Given the description of an element on the screen output the (x, y) to click on. 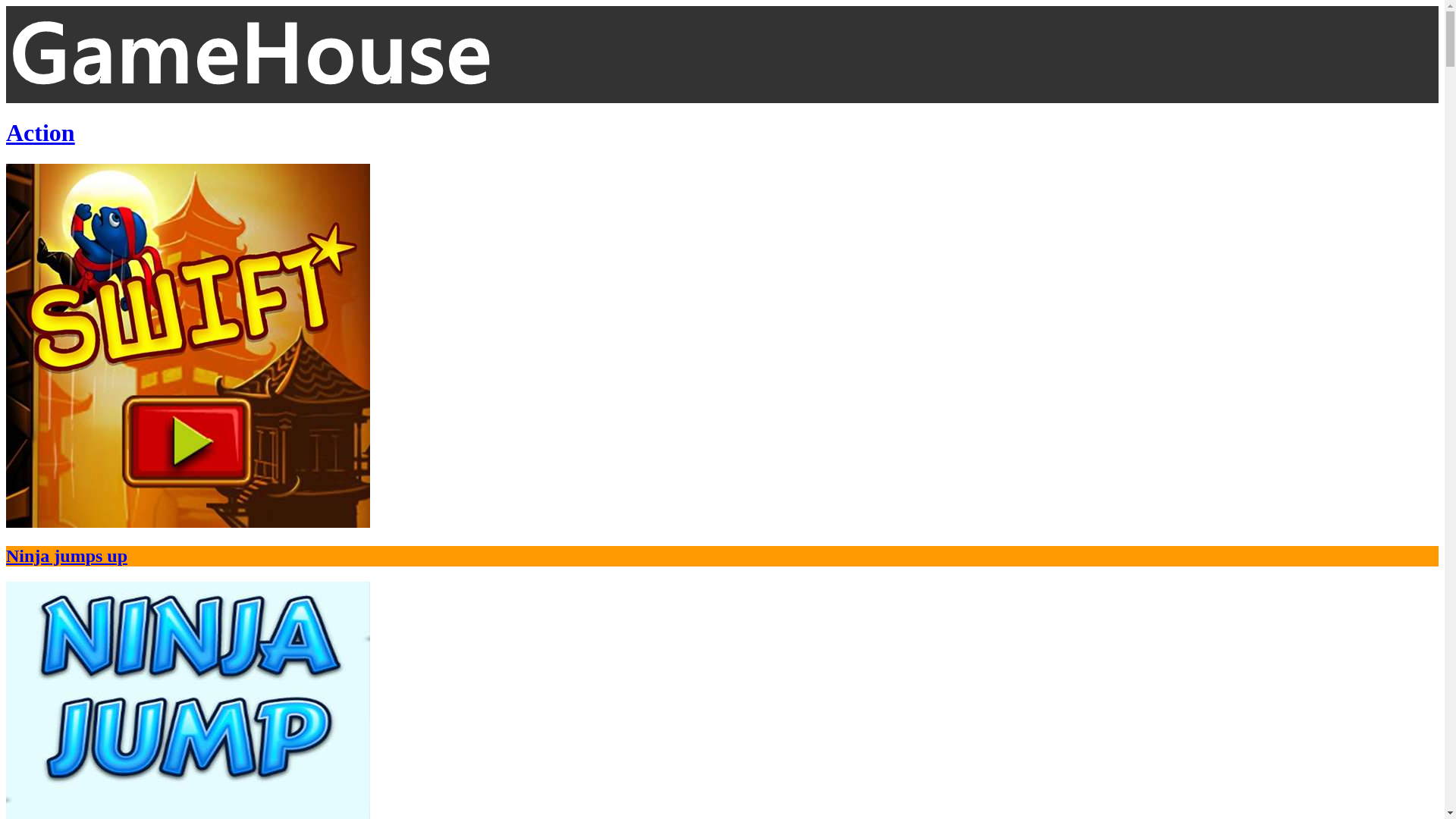
Ninja jumps up Element type: text (722, 364)
Action Element type: text (40, 132)
